Given the description of an element on the screen output the (x, y) to click on. 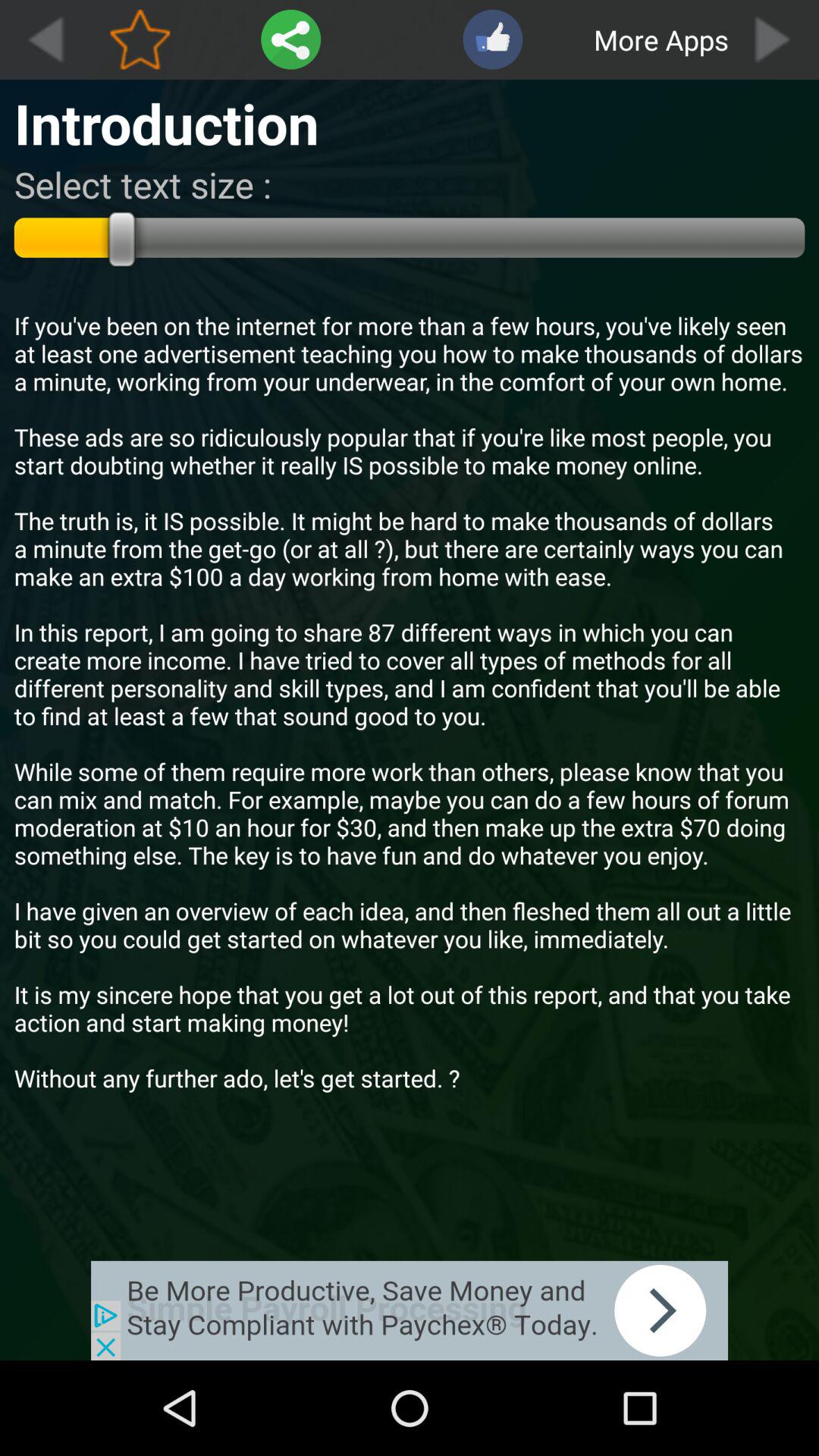
favorite (140, 39)
